Given the description of an element on the screen output the (x, y) to click on. 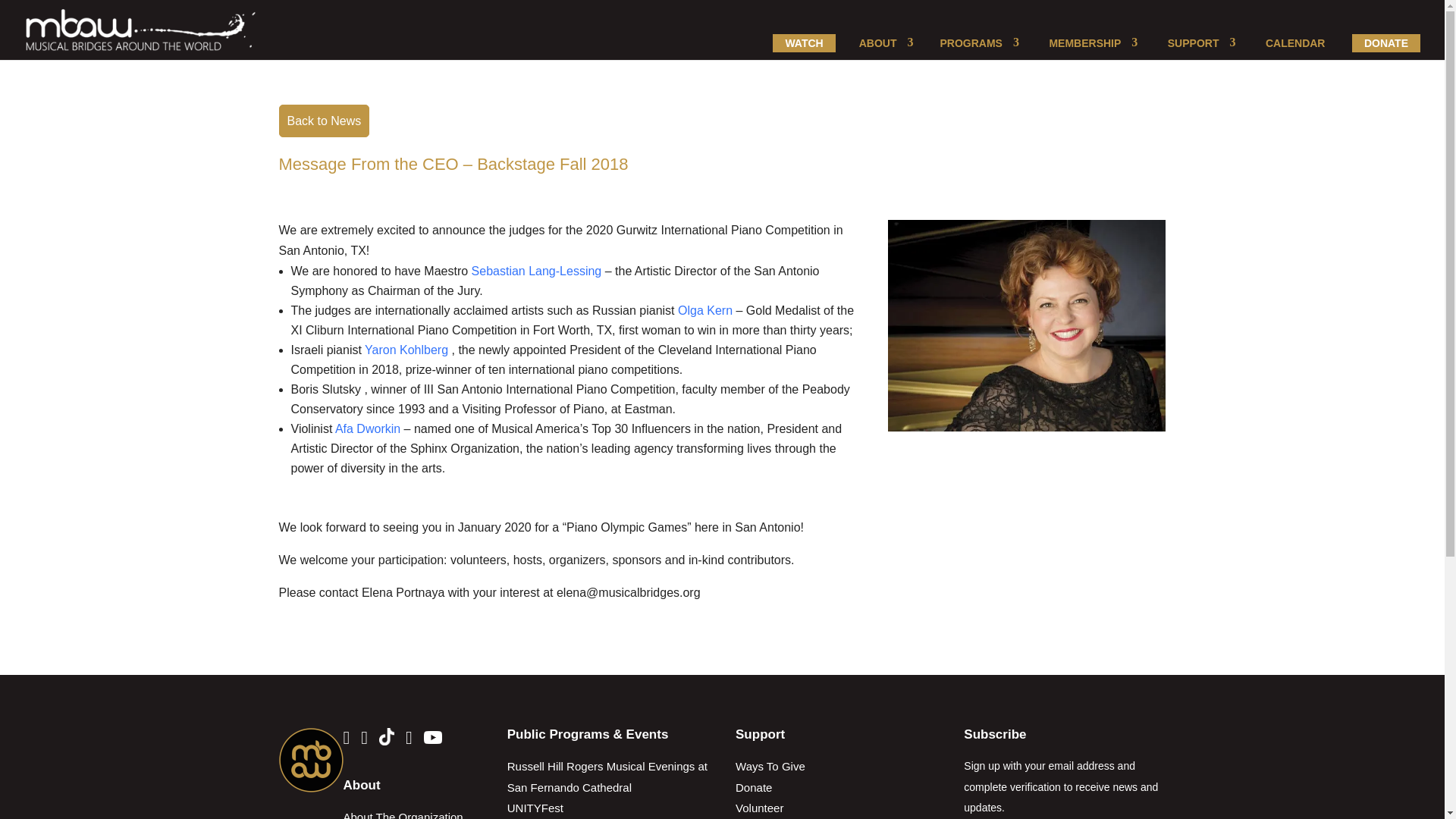
CALENDAR (1295, 43)
ABOUT (882, 43)
MEMBERSHIP (1088, 43)
SUPPORT (1197, 43)
Sebastian Lang-Lessing (536, 270)
Back to News (324, 120)
DONATE (1386, 43)
PROGRAMS (975, 43)
WATCH (803, 43)
